Given the description of an element on the screen output the (x, y) to click on. 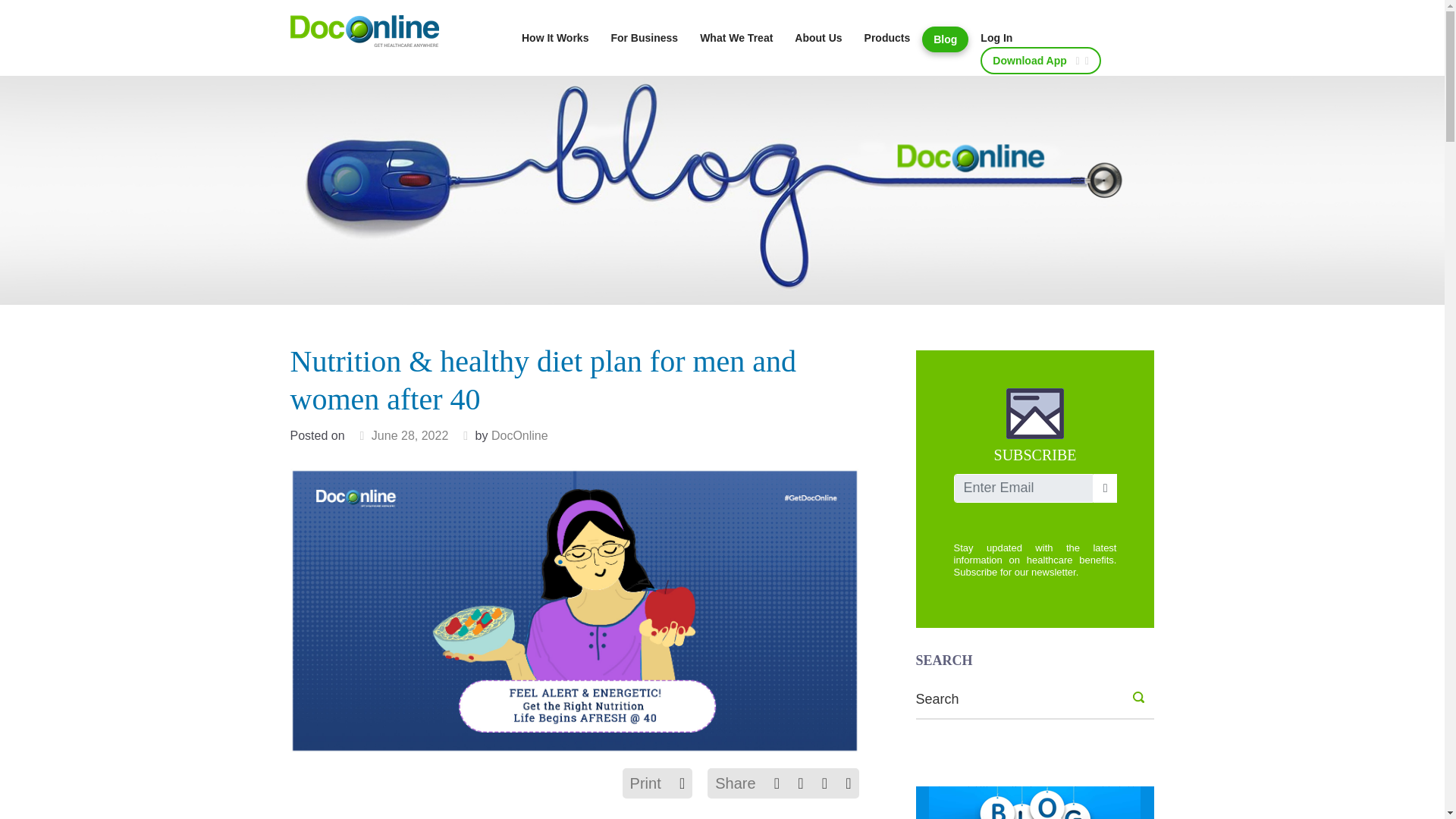
How It Works (555, 37)
Products (887, 37)
For Business (643, 37)
DocOnline (520, 435)
About Us (817, 37)
DocOnline Health (363, 30)
Share (734, 783)
Download App     (1040, 60)
Blog (944, 39)
June 28, 2022 (409, 435)
What We Treat (736, 37)
Print (645, 783)
Log In (996, 37)
